Given the description of an element on the screen output the (x, y) to click on. 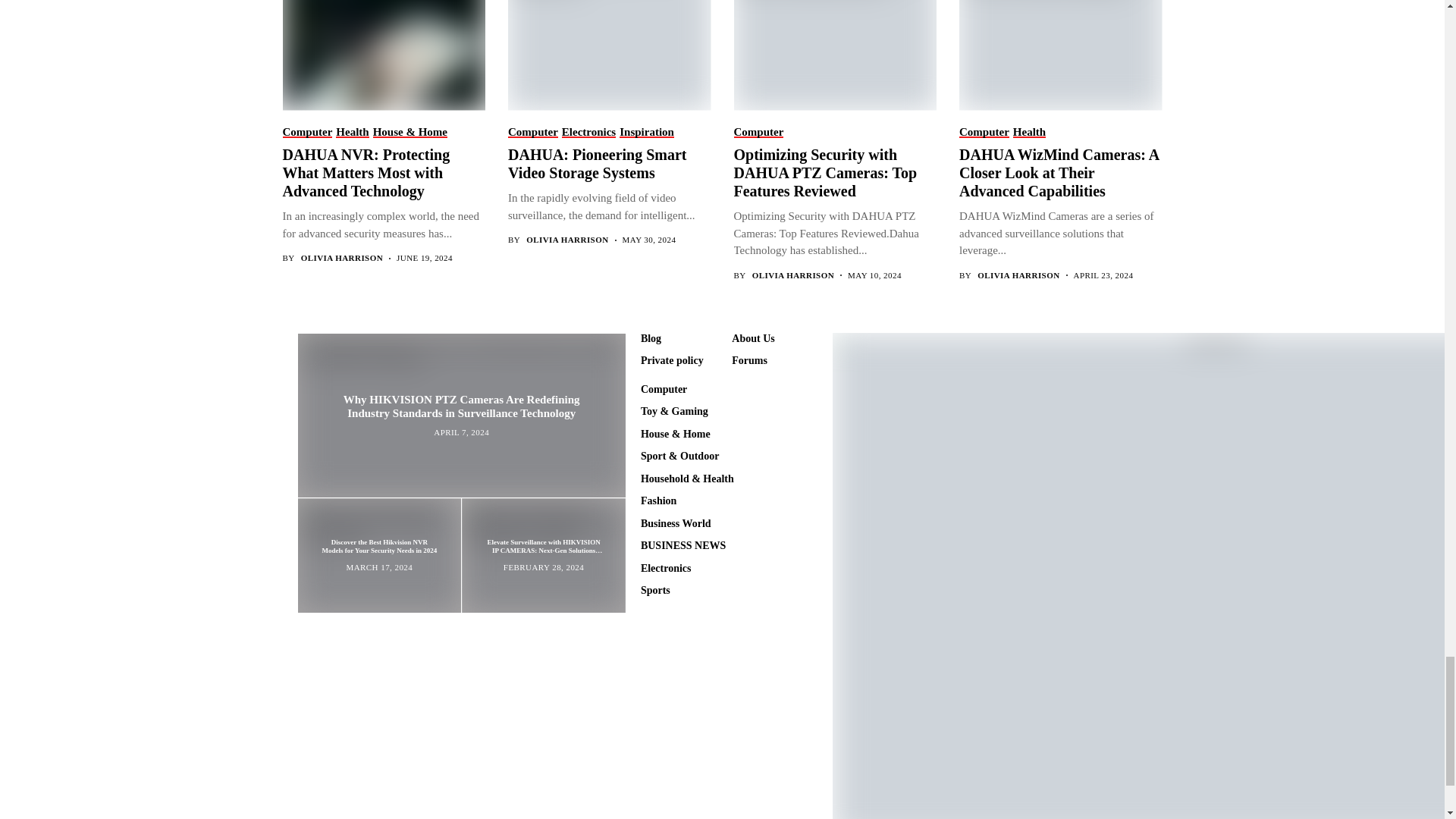
Posts by Olivia Harrison (566, 239)
Posts by Olivia Harrison (1017, 275)
DAHUA: Pioneering Smart Video Storage Systems (608, 54)
Posts by Olivia Harrison (341, 257)
Posts by Olivia Harrison (793, 275)
